Given the description of an element on the screen output the (x, y) to click on. 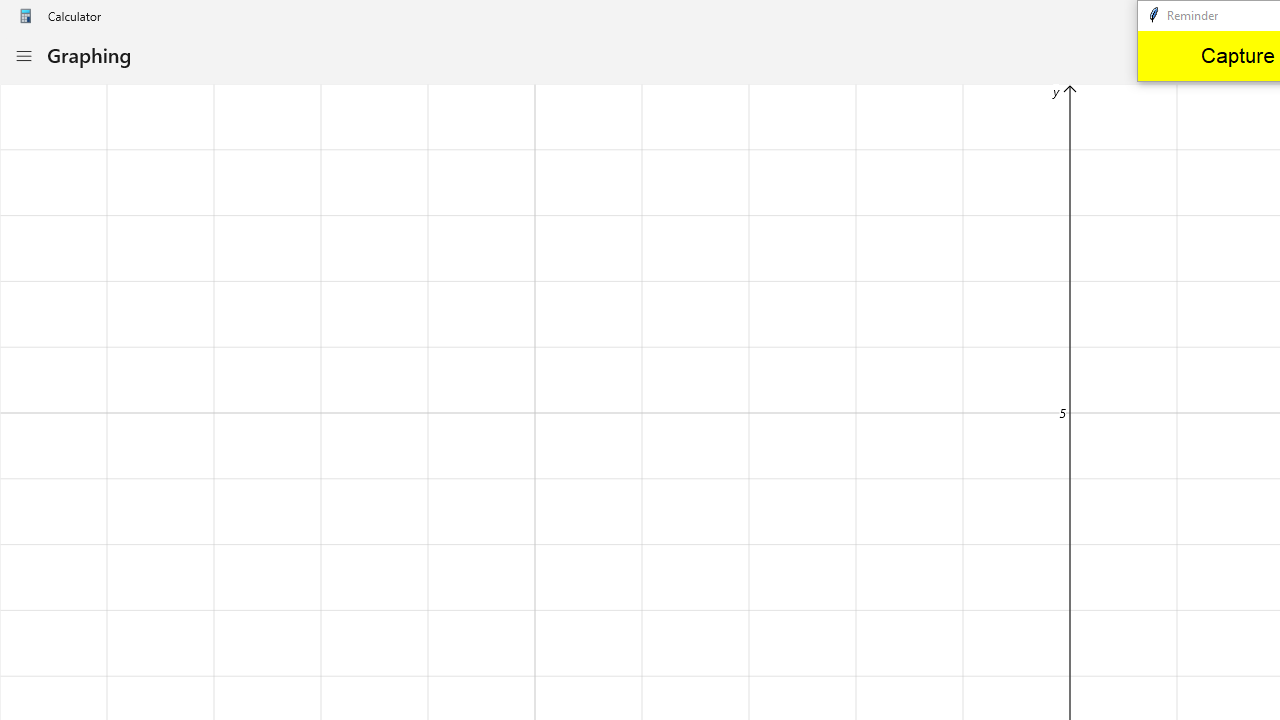
Open Navigation (23, 56)
